Given the description of an element on the screen output the (x, y) to click on. 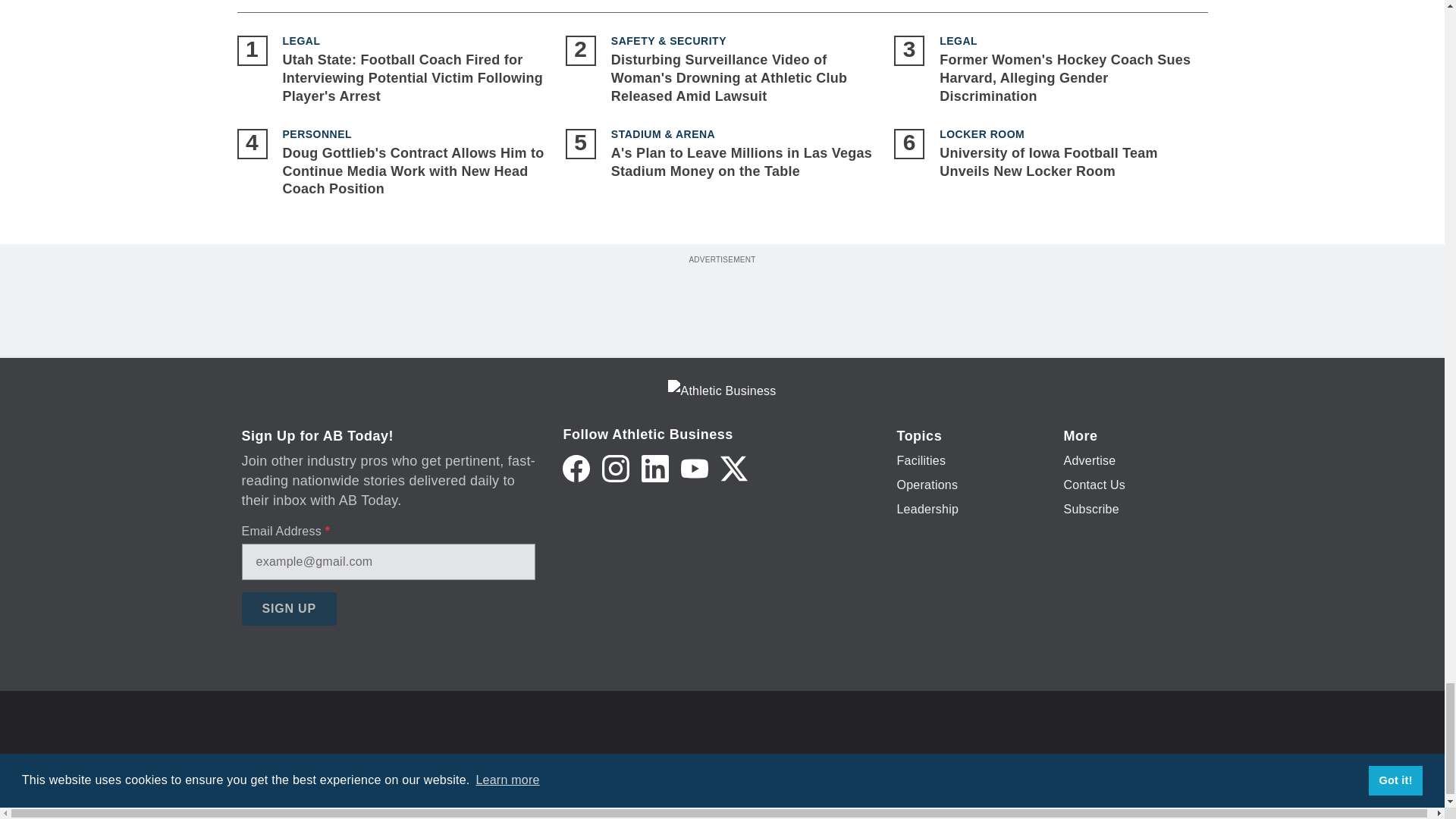
LinkedIn icon (655, 468)
YouTube icon (694, 468)
Facebook icon (575, 468)
Instagram icon (615, 468)
